Given the description of an element on the screen output the (x, y) to click on. 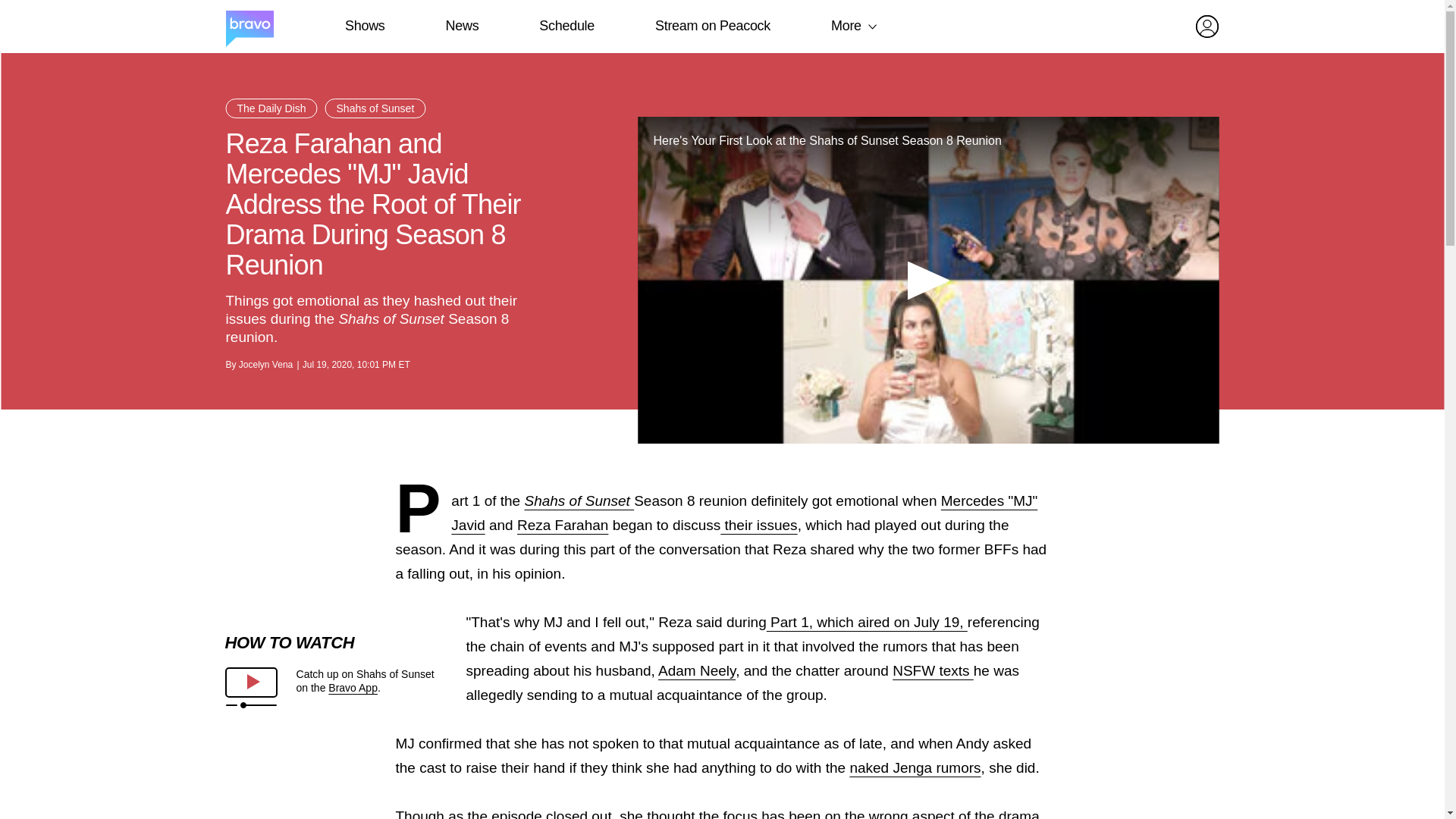
Bravo App (353, 687)
Stream on Peacock (712, 26)
NSFW texts (933, 670)
Jocelyn Vena (265, 364)
Shows (363, 26)
Schedule (566, 26)
Shahs of Sunset (578, 500)
 their issues (758, 524)
Adam Neely (696, 670)
